Given the description of an element on the screen output the (x, y) to click on. 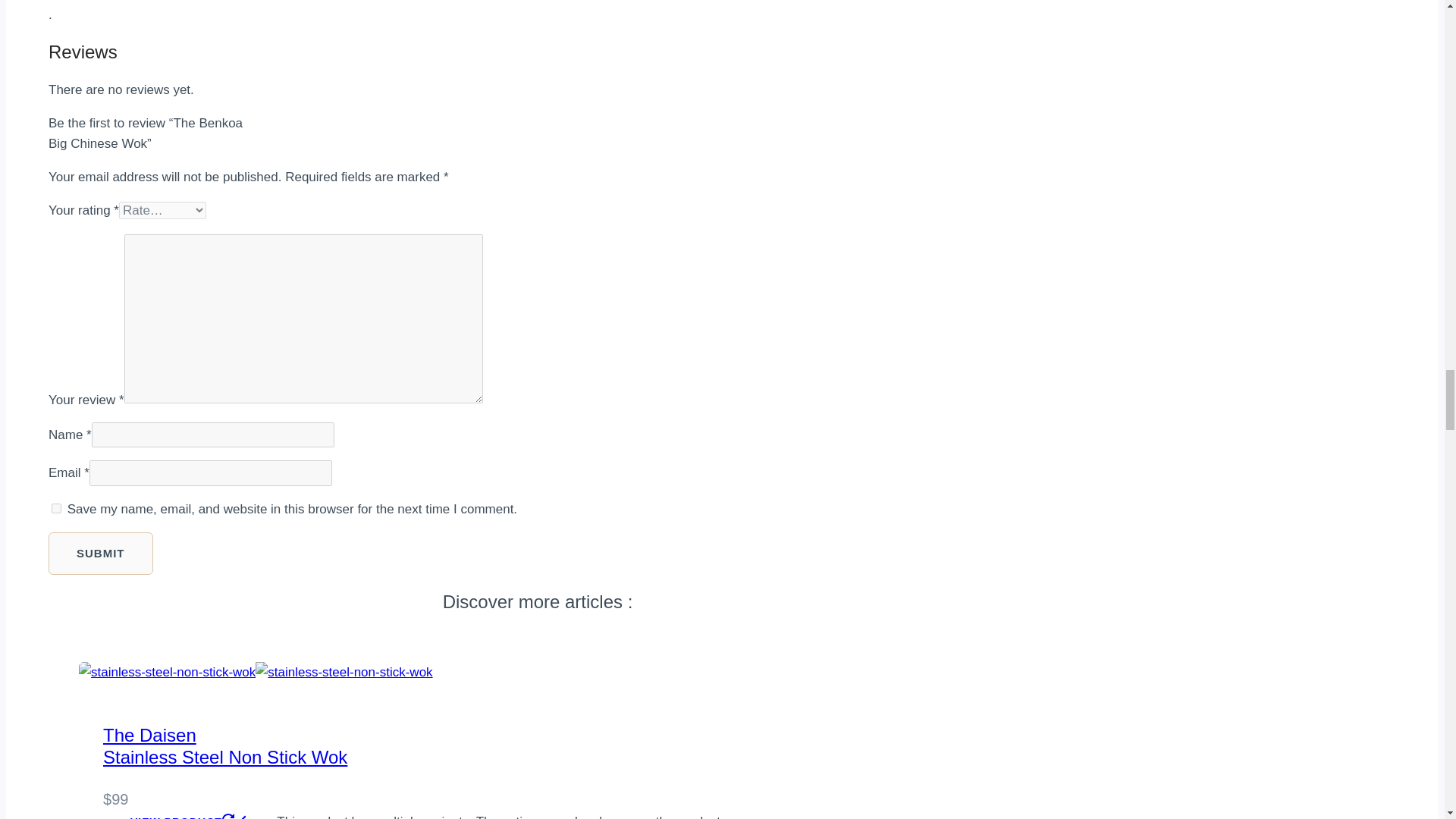
VIEW PRODUCT (225, 745)
yes (188, 811)
Submit (55, 508)
stainless-steel-non-stick-wok (100, 553)
Submit (344, 671)
